Given the description of an element on the screen output the (x, y) to click on. 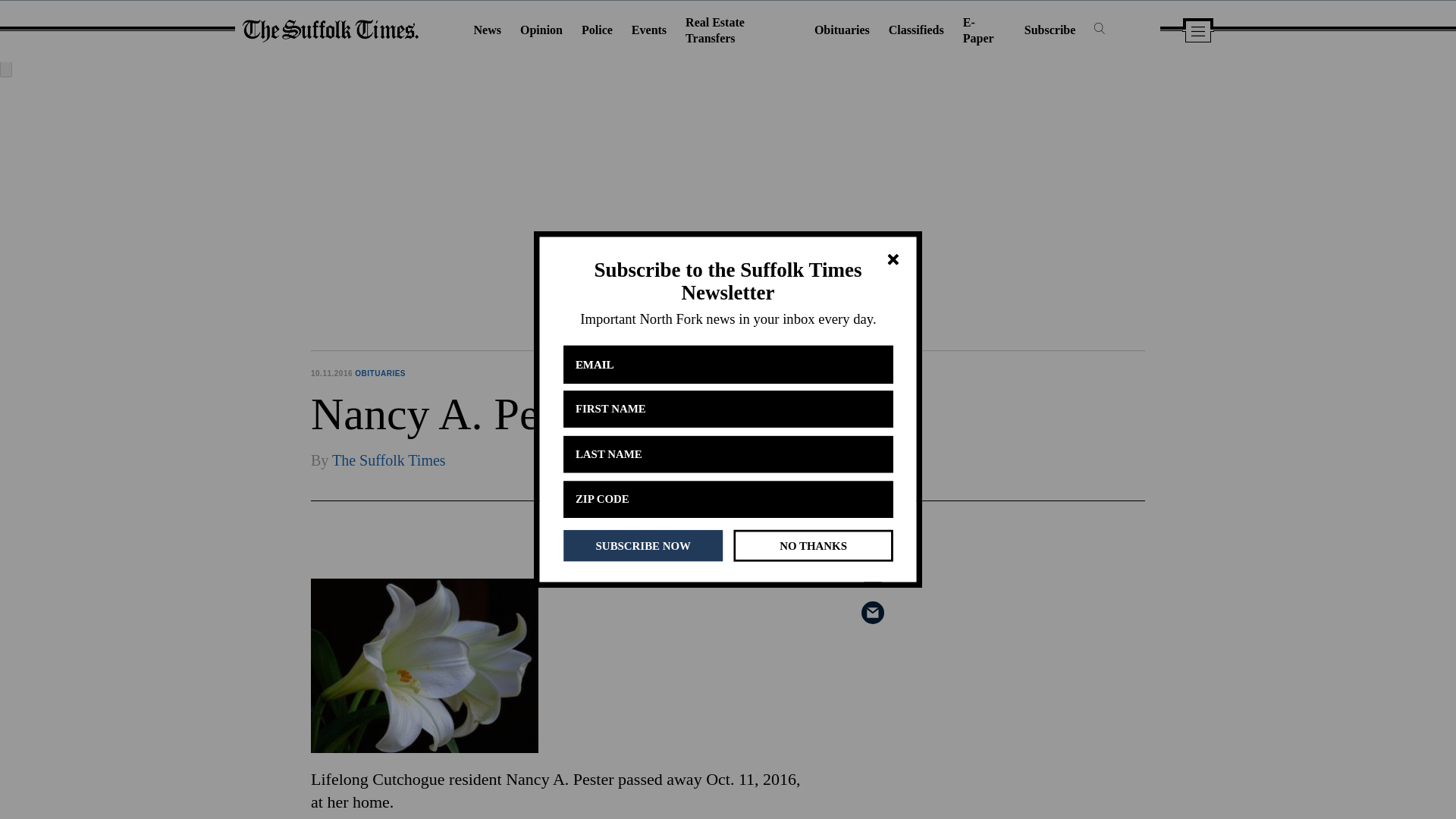
Classifieds (915, 29)
E-Paper (978, 30)
Obituaries (841, 29)
Subscribe (1050, 29)
Opinion (540, 29)
Police (596, 29)
Events (648, 29)
News (487, 29)
Share via email. (872, 612)
Share on Facebook. (872, 536)
3rd party ad content (1030, 627)
3rd party ad content (1030, 774)
Real Estate Transfers (714, 30)
Tweet this! (872, 574)
